Given the description of an element on the screen output the (x, y) to click on. 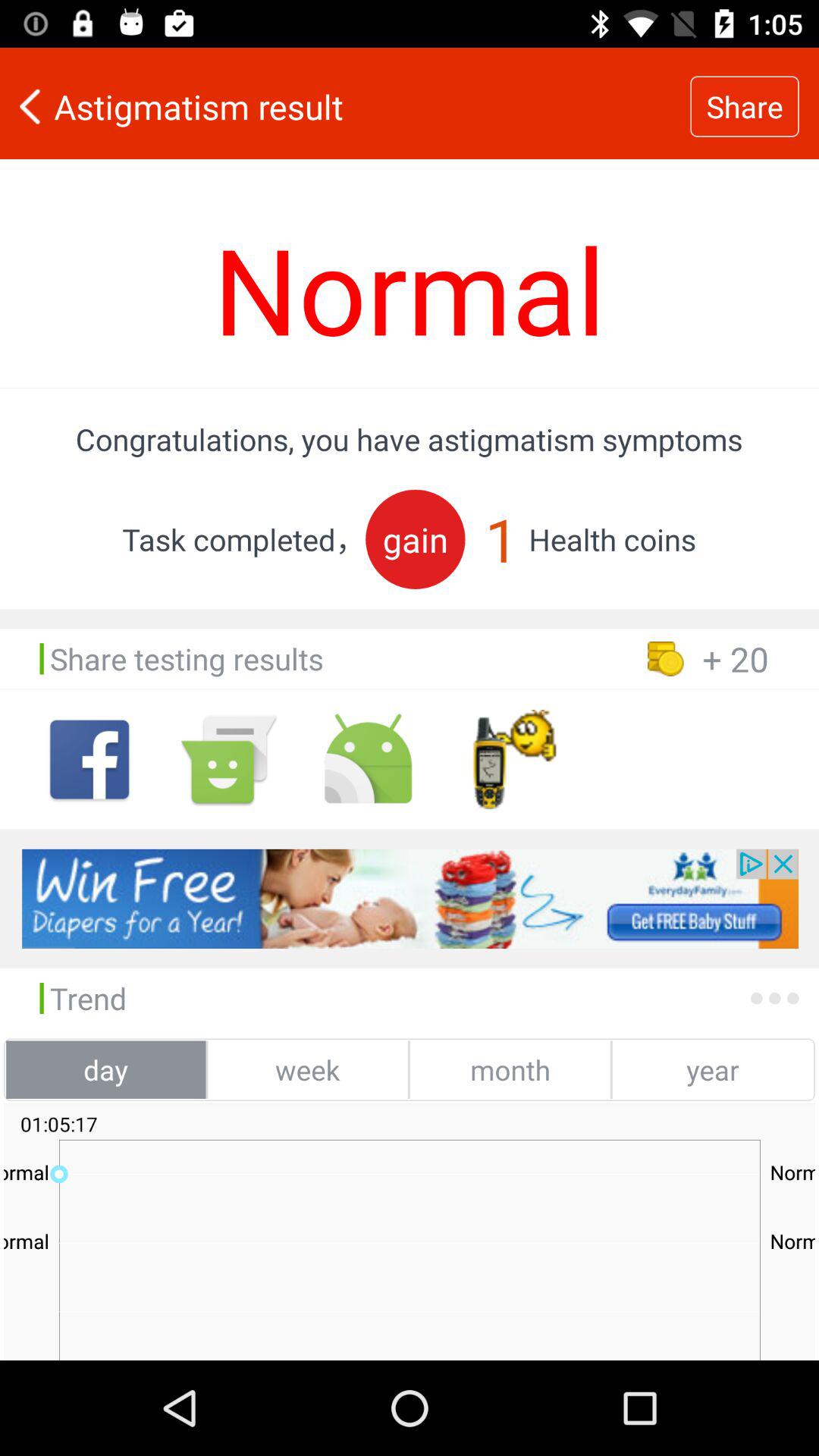
press astigmatism result (345, 106)
